Given the description of an element on the screen output the (x, y) to click on. 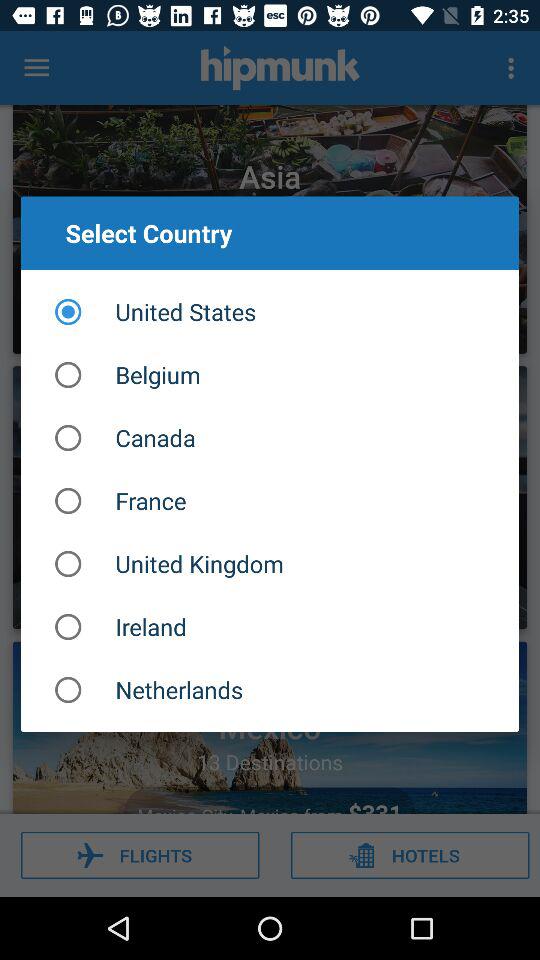
flip to the canada (270, 437)
